Given the description of an element on the screen output the (x, y) to click on. 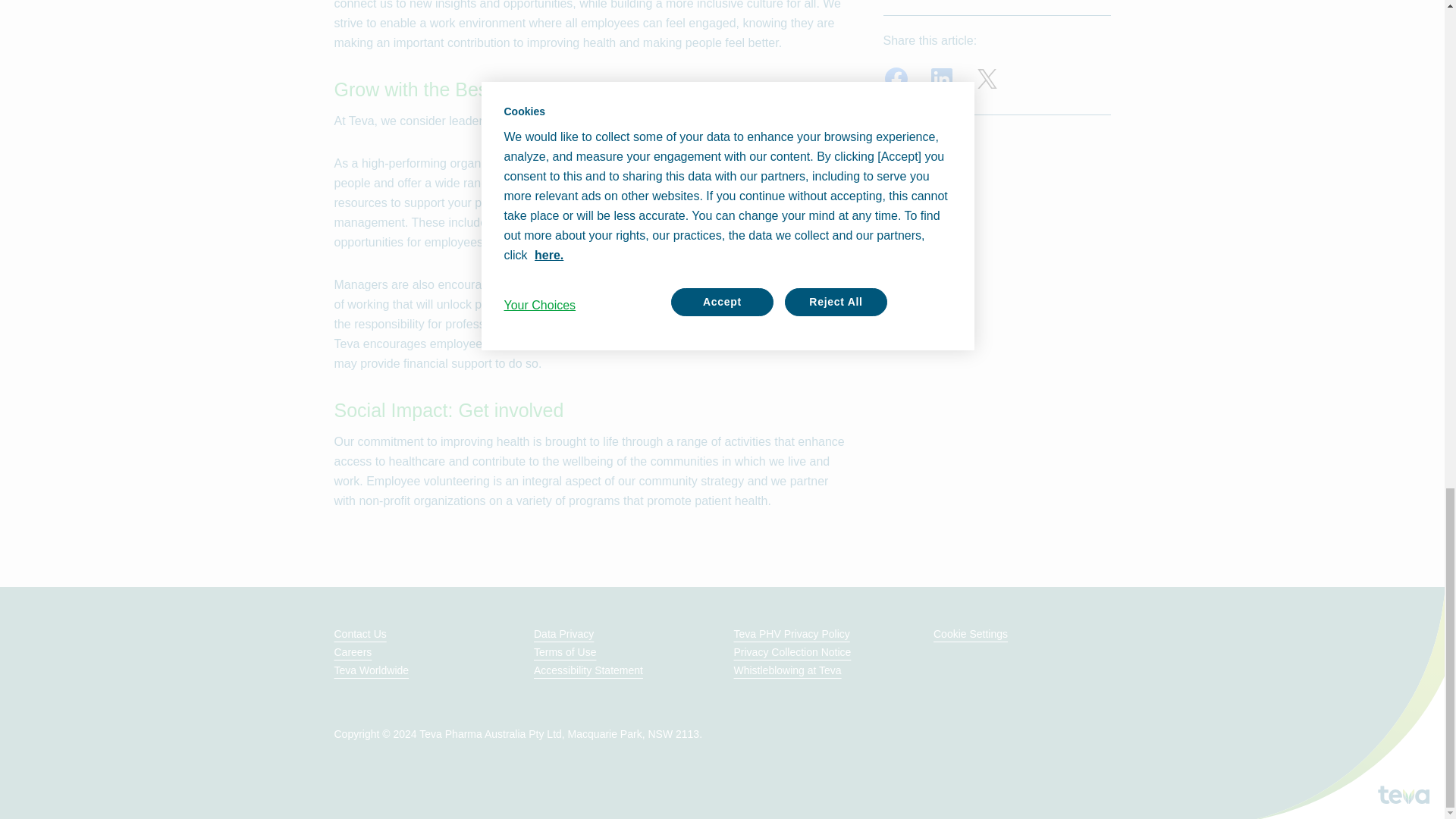
Contact Us (359, 633)
Privacy Collection Notice (792, 652)
Whistleblowing at Teva (787, 670)
Accessibility Statement (588, 670)
Terms of Use (564, 652)
Contact Us (359, 633)
Careers (352, 652)
Data Privacy (564, 633)
Data Privacy (564, 633)
Teva Worldwide (371, 670)
Terms of Use (564, 652)
Careers (352, 652)
Teva Worldwide (371, 670)
Teva PHV Privacy Policy (791, 633)
